Given the description of an element on the screen output the (x, y) to click on. 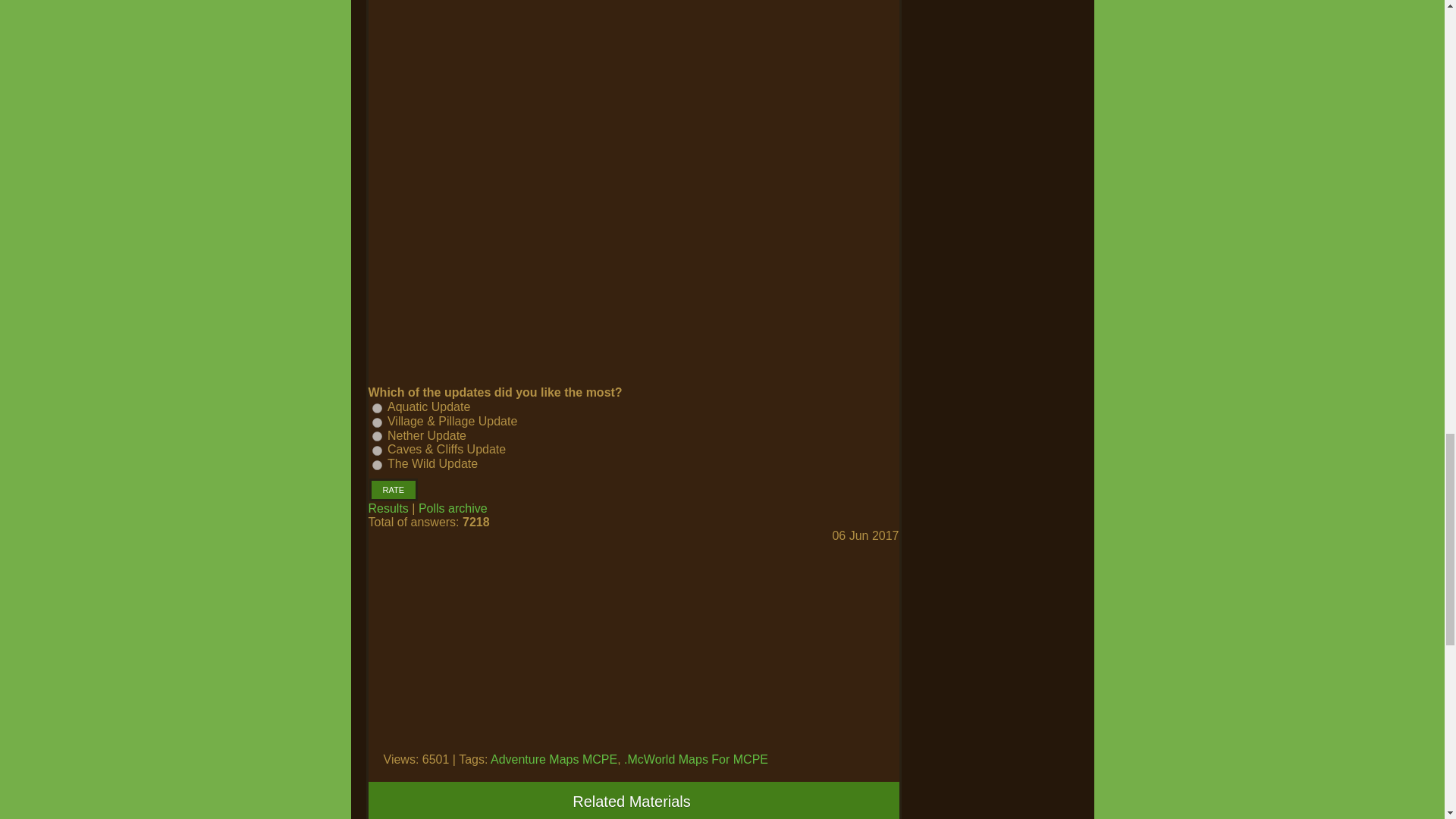
5 (376, 465)
3 (376, 436)
Rate (392, 489)
2 (376, 422)
1 (376, 408)
4 (376, 450)
